Given the description of an element on the screen output the (x, y) to click on. 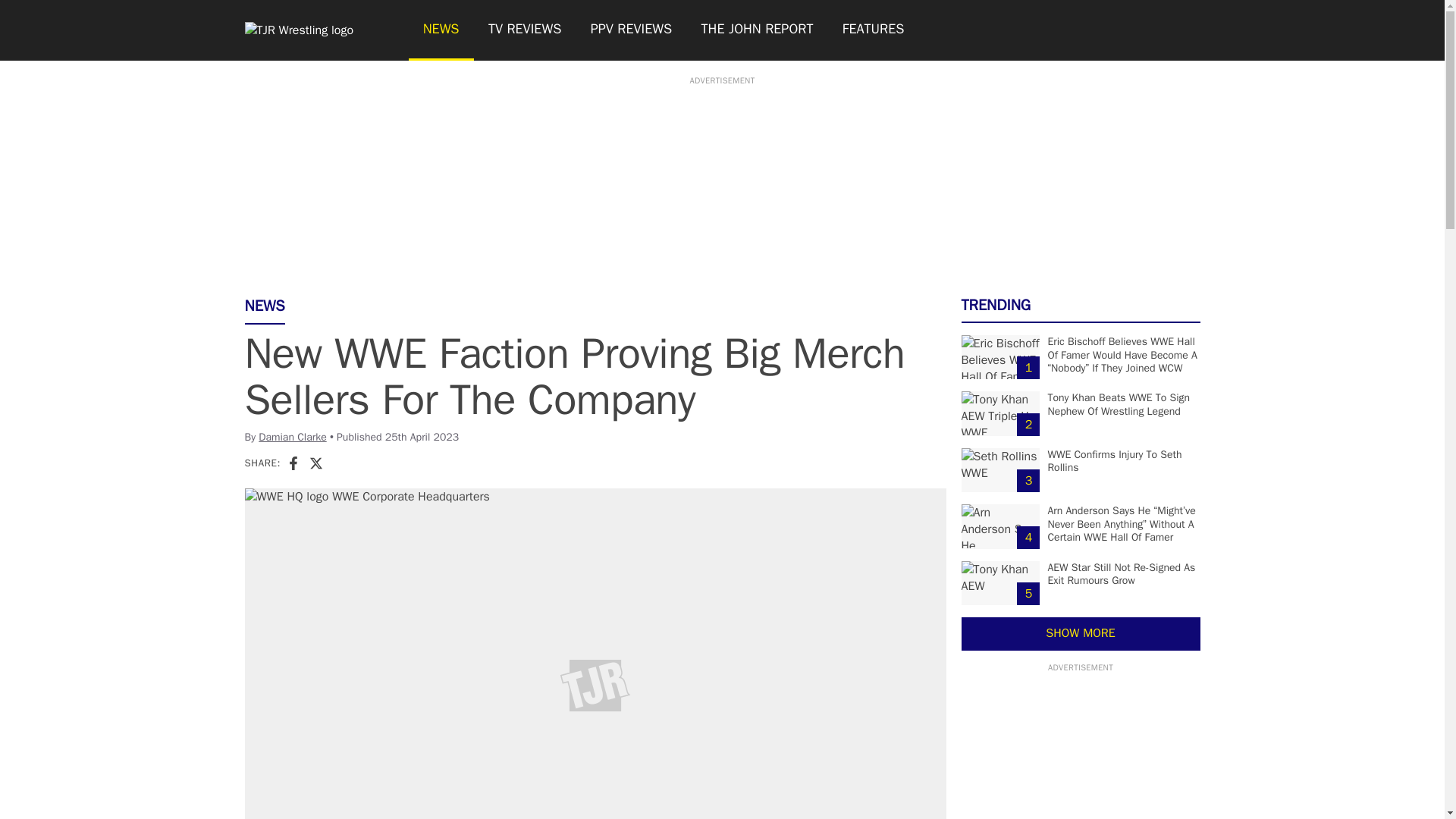
PPV REVIEWS (631, 30)
X (315, 462)
X (315, 463)
TV REVIEWS (525, 30)
Facebook (292, 462)
FEATURES (873, 30)
THE JOHN REPORT (756, 30)
Damian Clarke (292, 436)
Facebook (292, 463)
NEWS (440, 30)
